Given the description of an element on the screen output the (x, y) to click on. 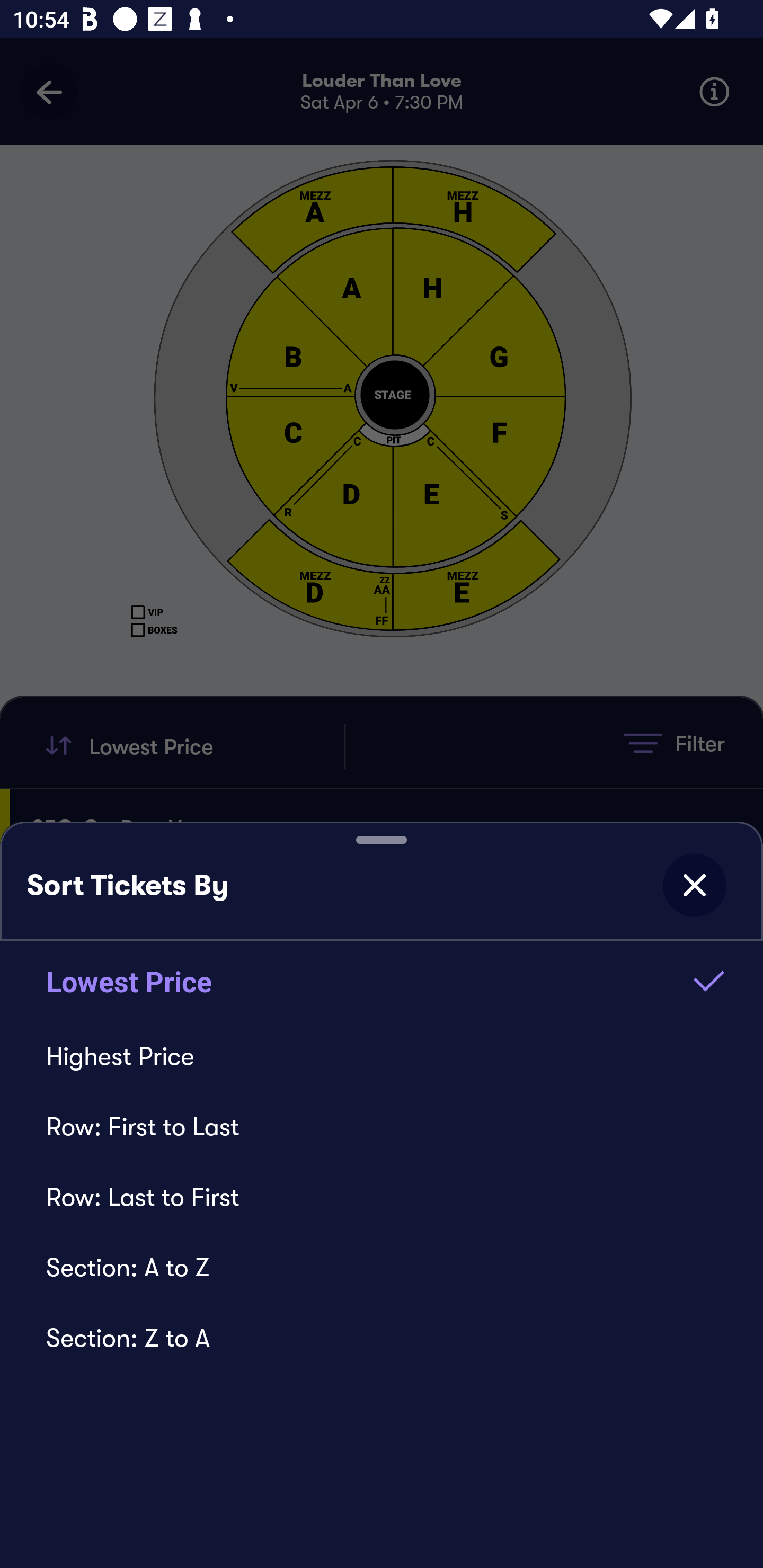
close (694, 884)
Lowest Price (381, 980)
Highest Price (381, 1055)
Row: First to Last (381, 1126)
Row: Last to First (381, 1196)
Section: A to Z (381, 1267)
Section: Z to A (381, 1338)
